Given the description of an element on the screen output the (x, y) to click on. 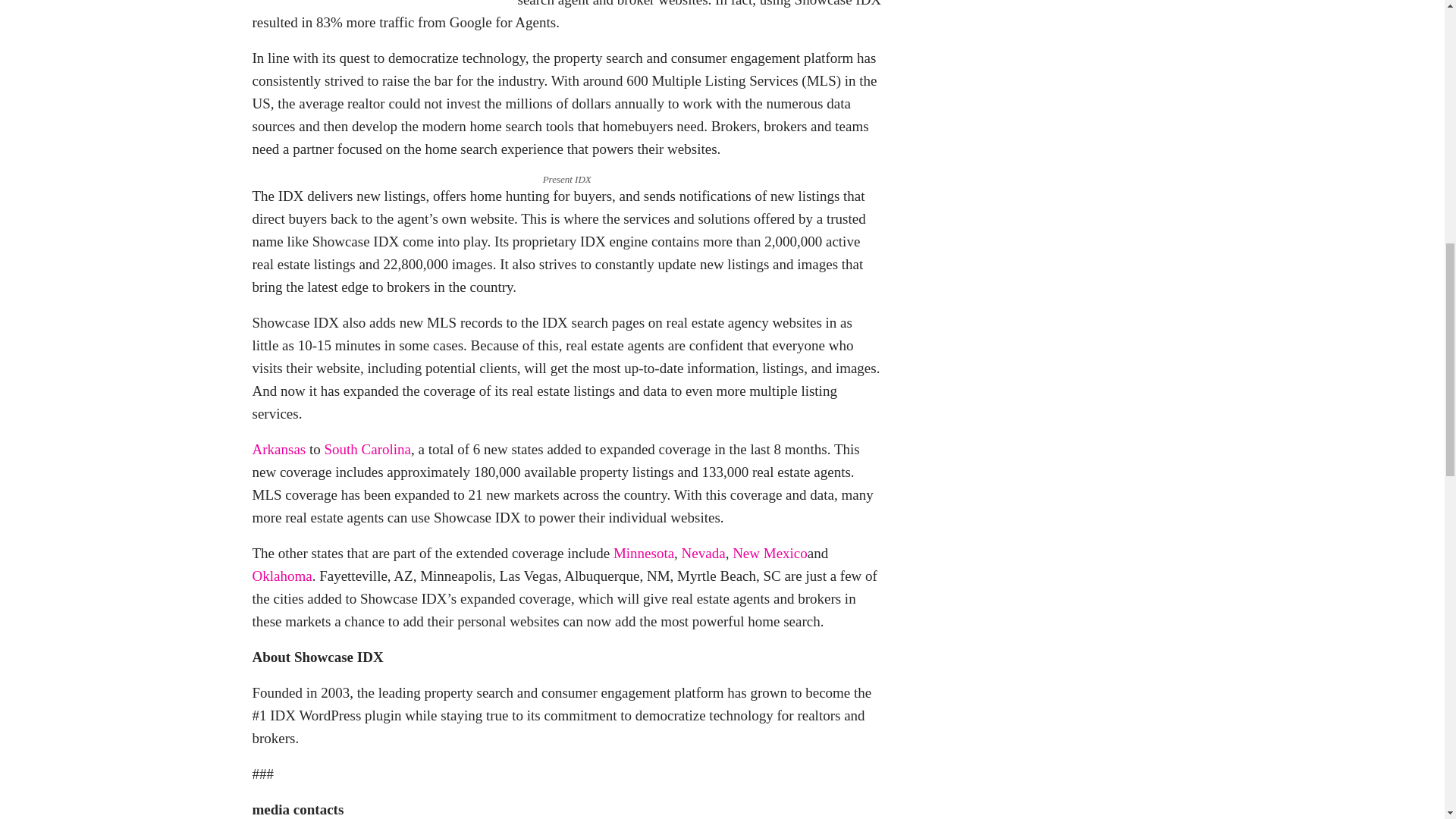
Minnesota (643, 553)
Arkansas (278, 449)
South Carolina (366, 449)
